Given the description of an element on the screen output the (x, y) to click on. 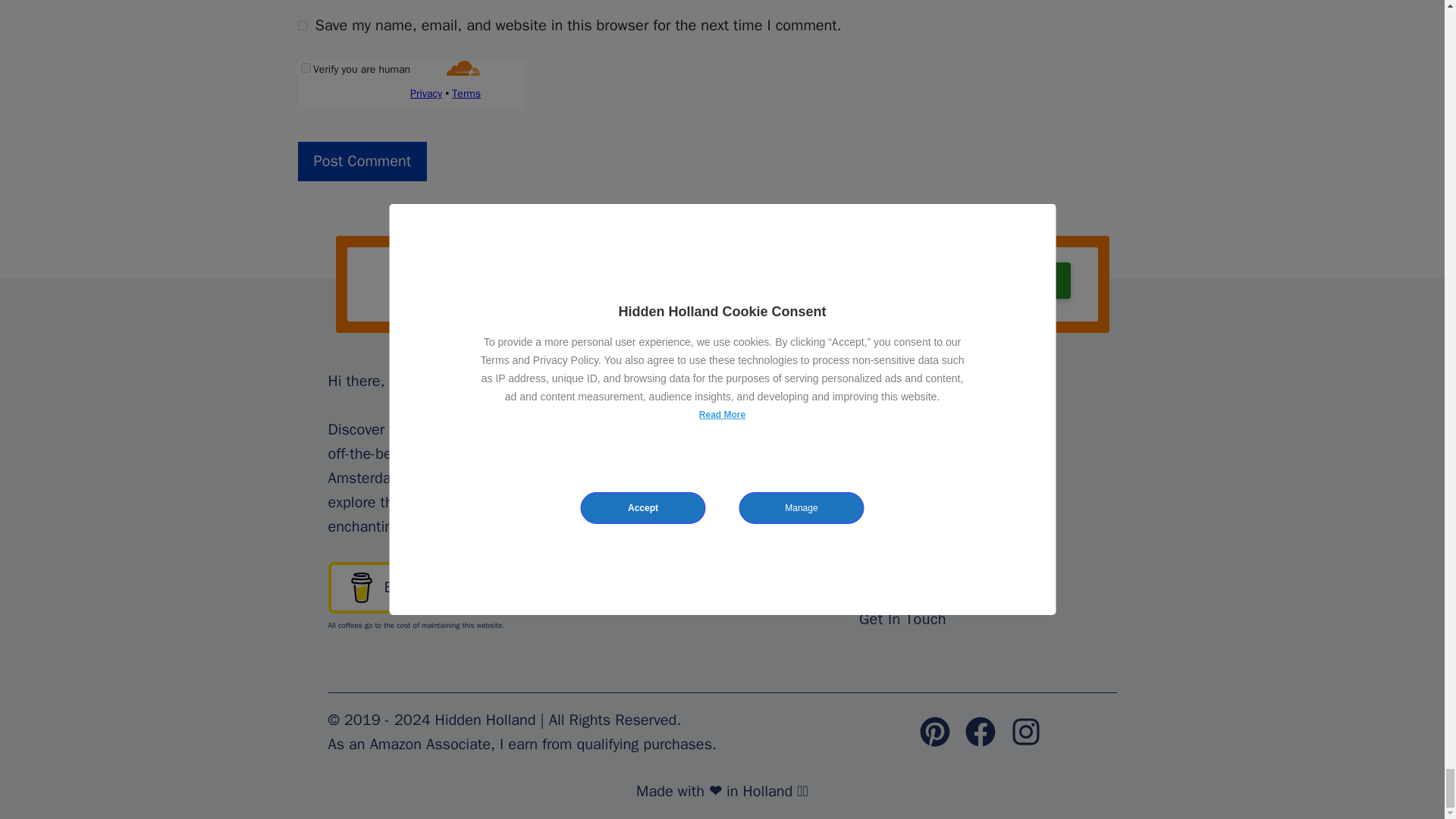
Post Comment (361, 160)
yes (302, 25)
